Given the description of an element on the screen output the (x, y) to click on. 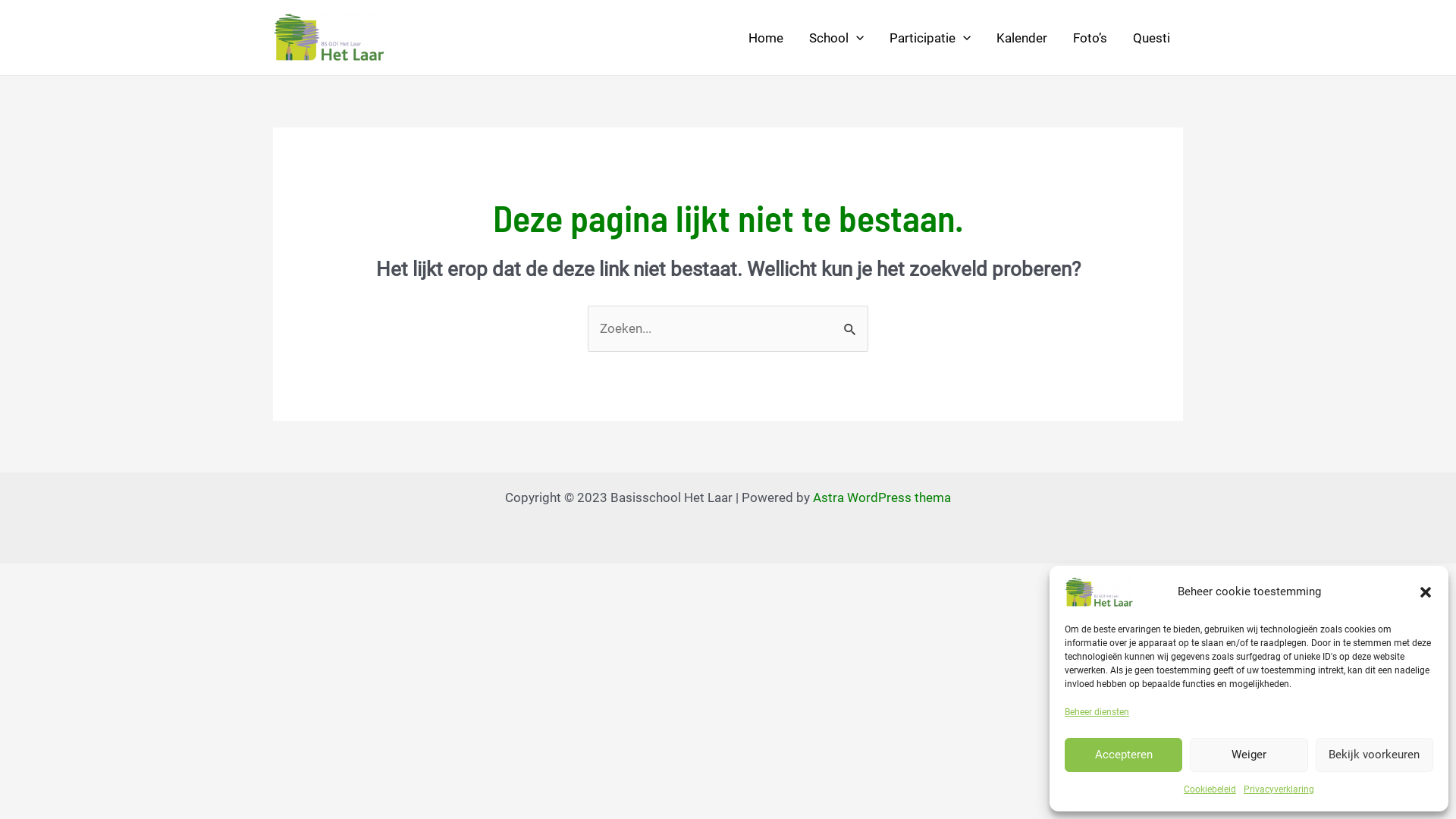
School Element type: text (836, 36)
Home Element type: text (765, 36)
Cookiebeleid Element type: text (1209, 789)
Privacyverklaring Element type: text (1278, 789)
Weiger Element type: text (1248, 754)
Zoeken Element type: text (851, 321)
Questi Element type: text (1151, 36)
Accepteren Element type: text (1123, 754)
Kalender Element type: text (1021, 36)
Bekijk voorkeuren Element type: text (1374, 754)
Participatie Element type: text (929, 36)
Astra WordPress thema Element type: text (881, 497)
Beheer diensten Element type: text (1096, 712)
